Given the description of an element on the screen output the (x, y) to click on. 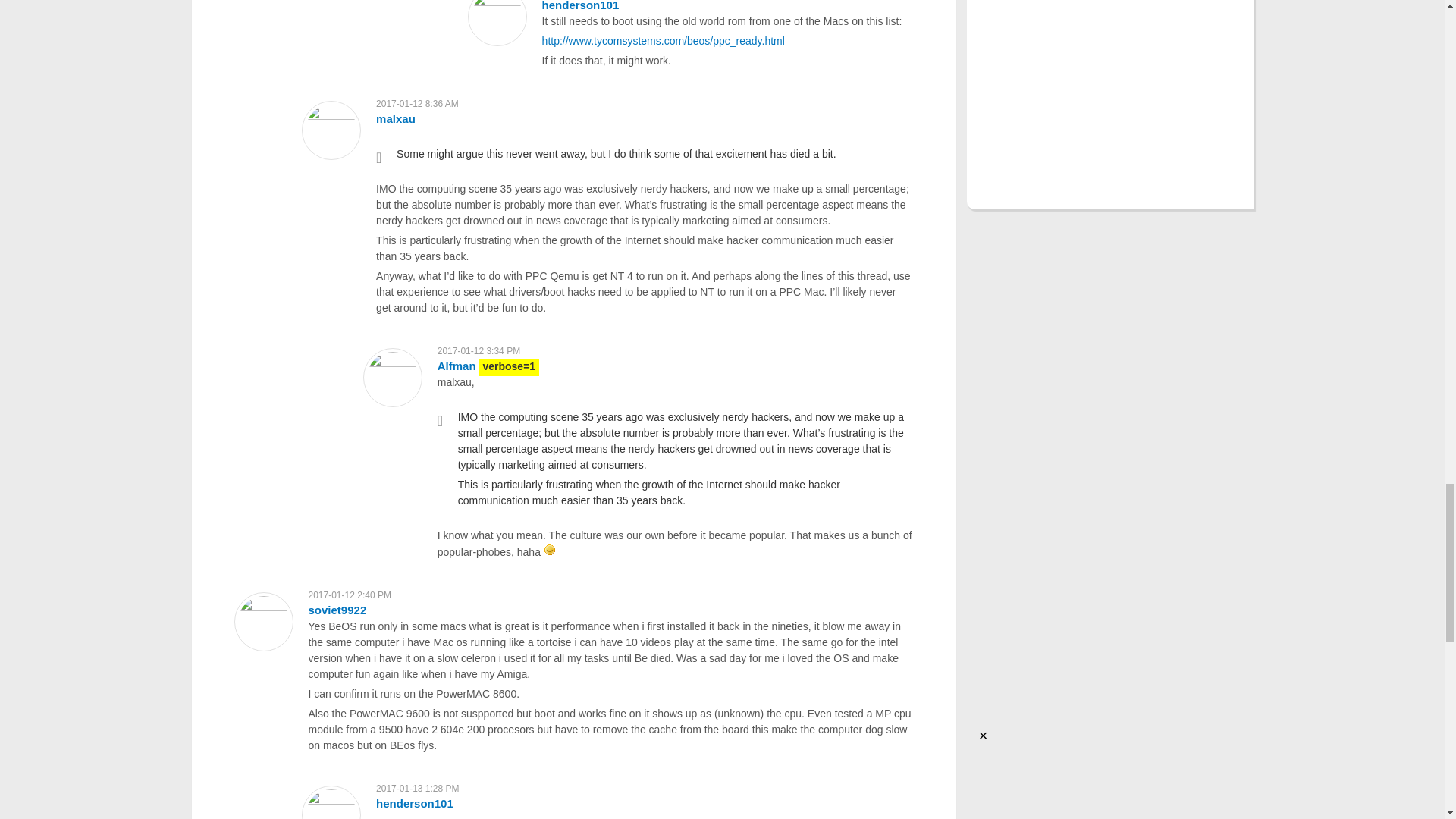
henderson101 (580, 5)
